Given the description of an element on the screen output the (x, y) to click on. 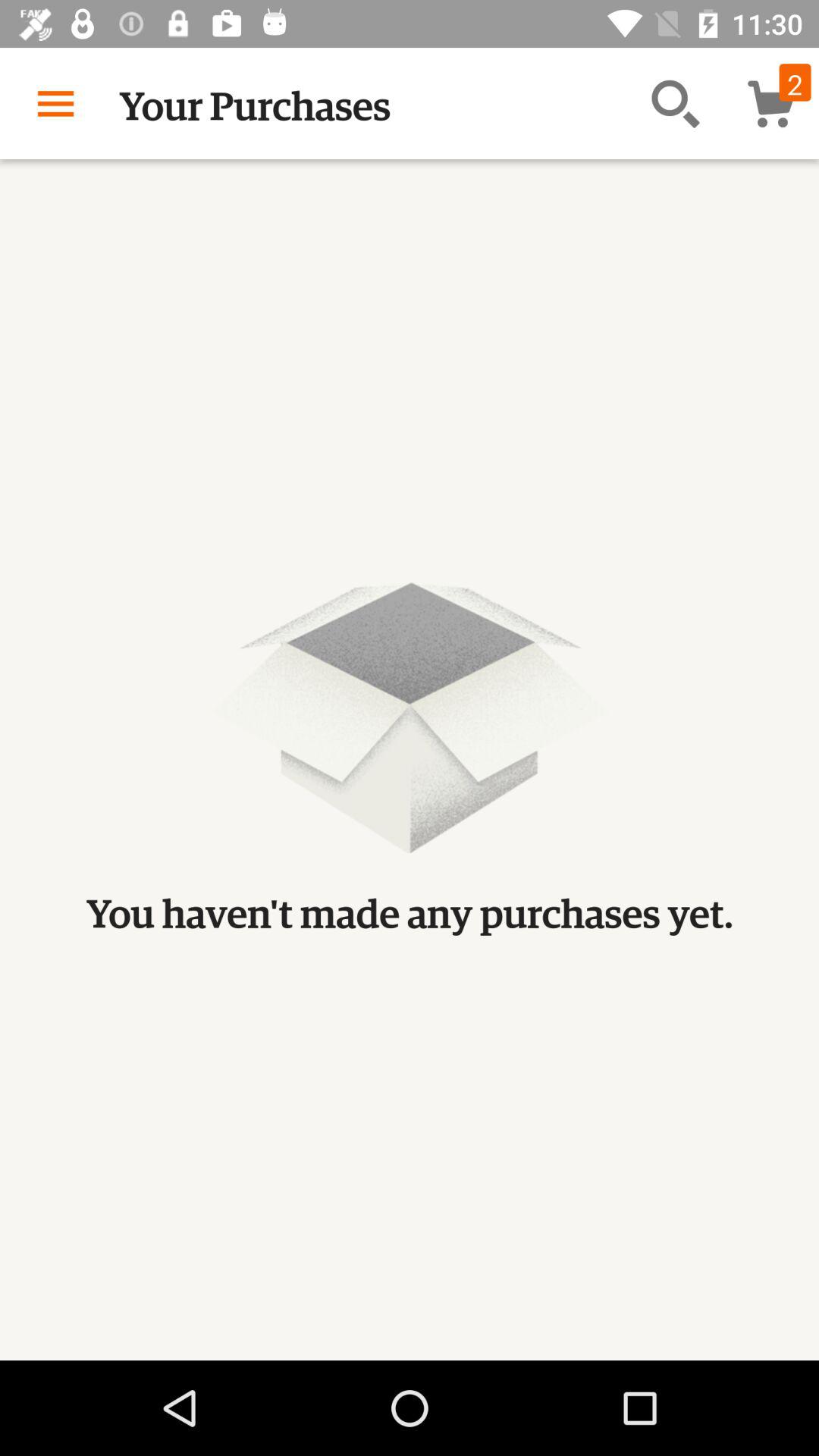
open the item above the you haven t item (675, 103)
